Given the description of an element on the screen output the (x, y) to click on. 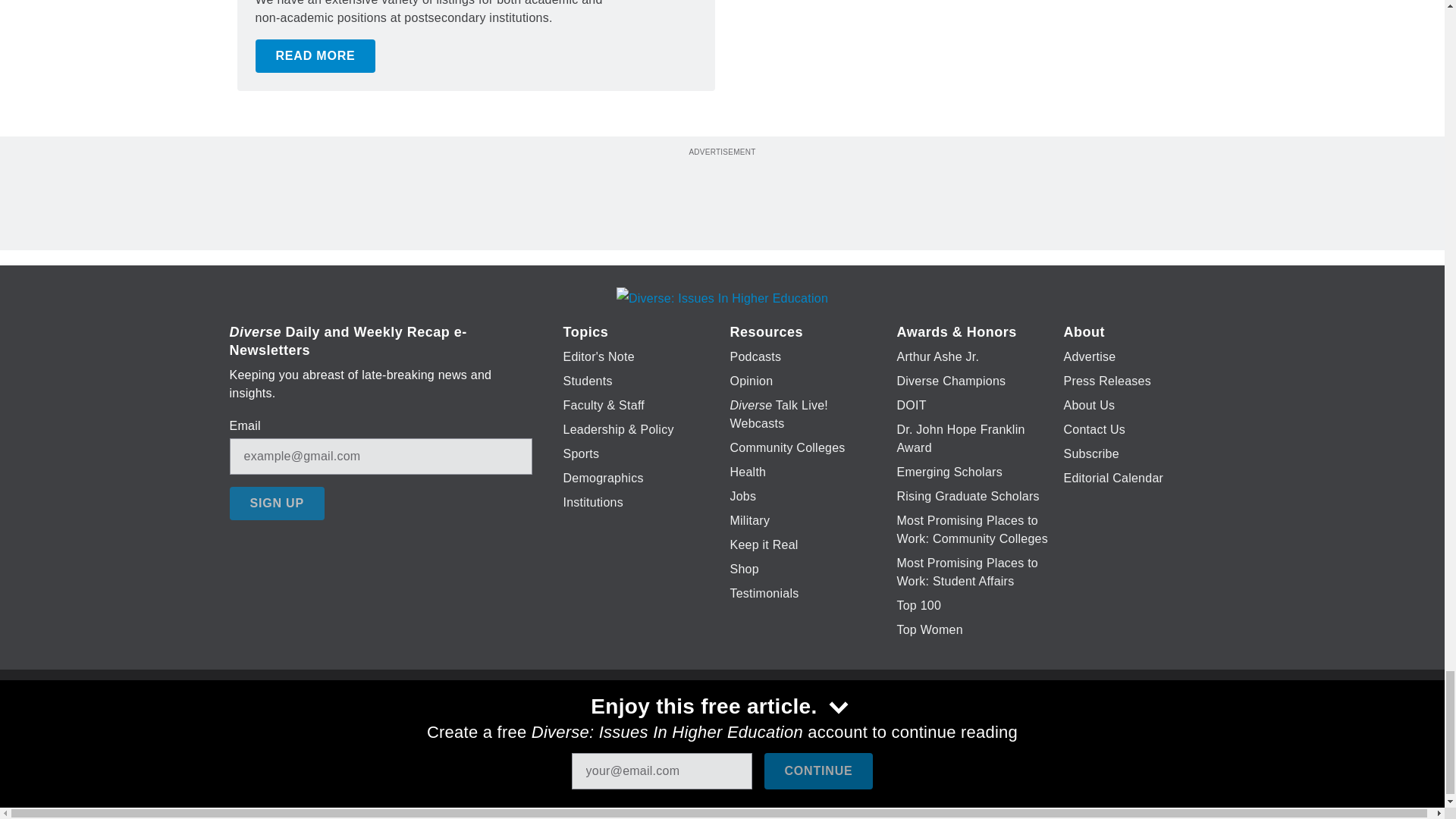
Instagram icon (796, 727)
Twitter X icon (674, 727)
Facebook icon (635, 727)
LinkedIn icon (718, 727)
YouTube icon (757, 727)
